Given the description of an element on the screen output the (x, y) to click on. 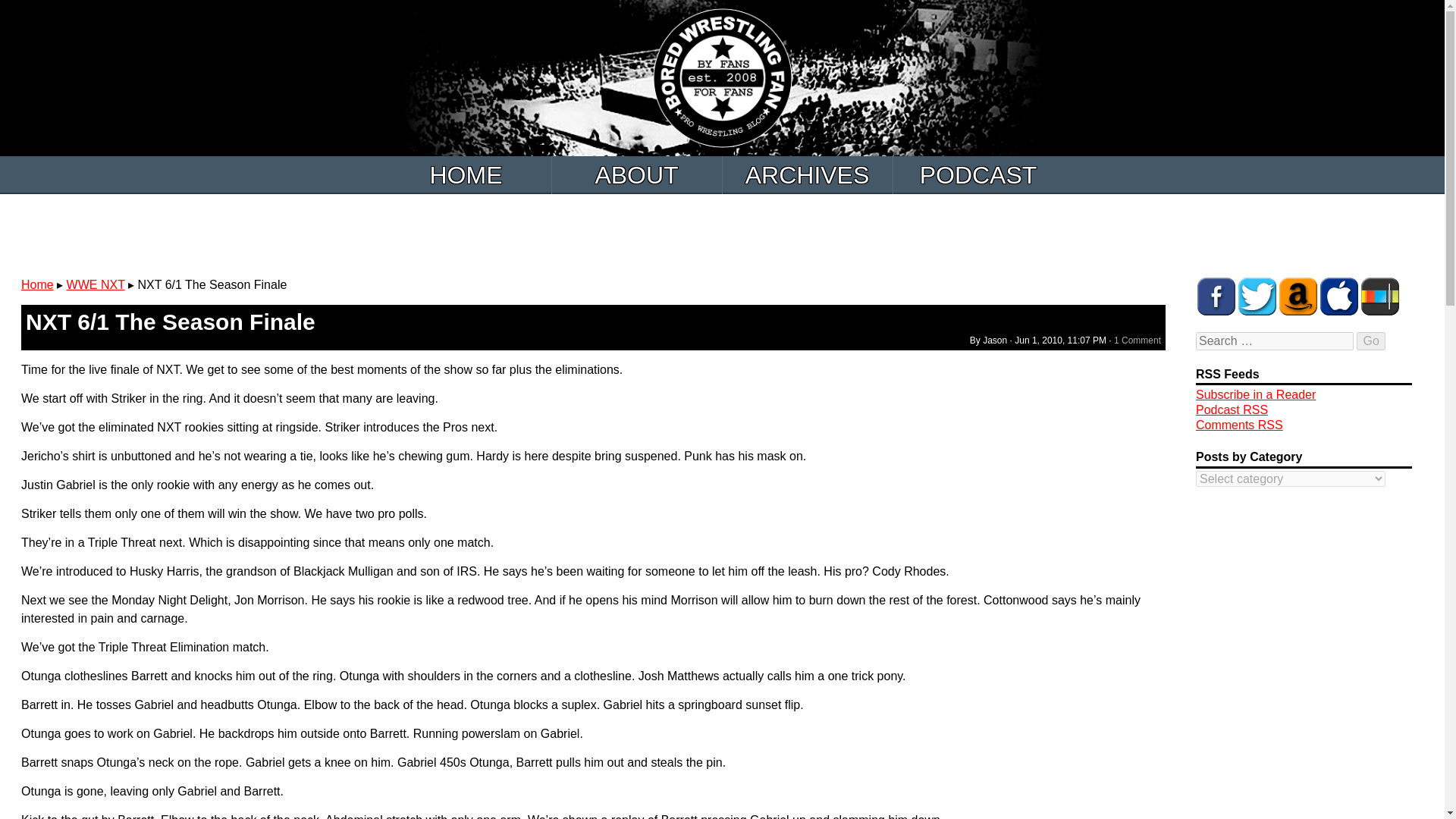
WWE NXT (95, 284)
1 Comment (1136, 339)
Comments RSS (1238, 424)
ABOUT (636, 175)
Podcast (978, 175)
BWF Amazon Store (1298, 296)
Subscribe in a Reader (1255, 394)
About (636, 175)
Go (1370, 341)
BWF on Twitter (1257, 296)
BWF Radio on iTunes (1339, 296)
BWF Radio on Stitcher (1380, 296)
HOME (465, 175)
Podcast RSS (1231, 409)
Archives (807, 175)
